Given the description of an element on the screen output the (x, y) to click on. 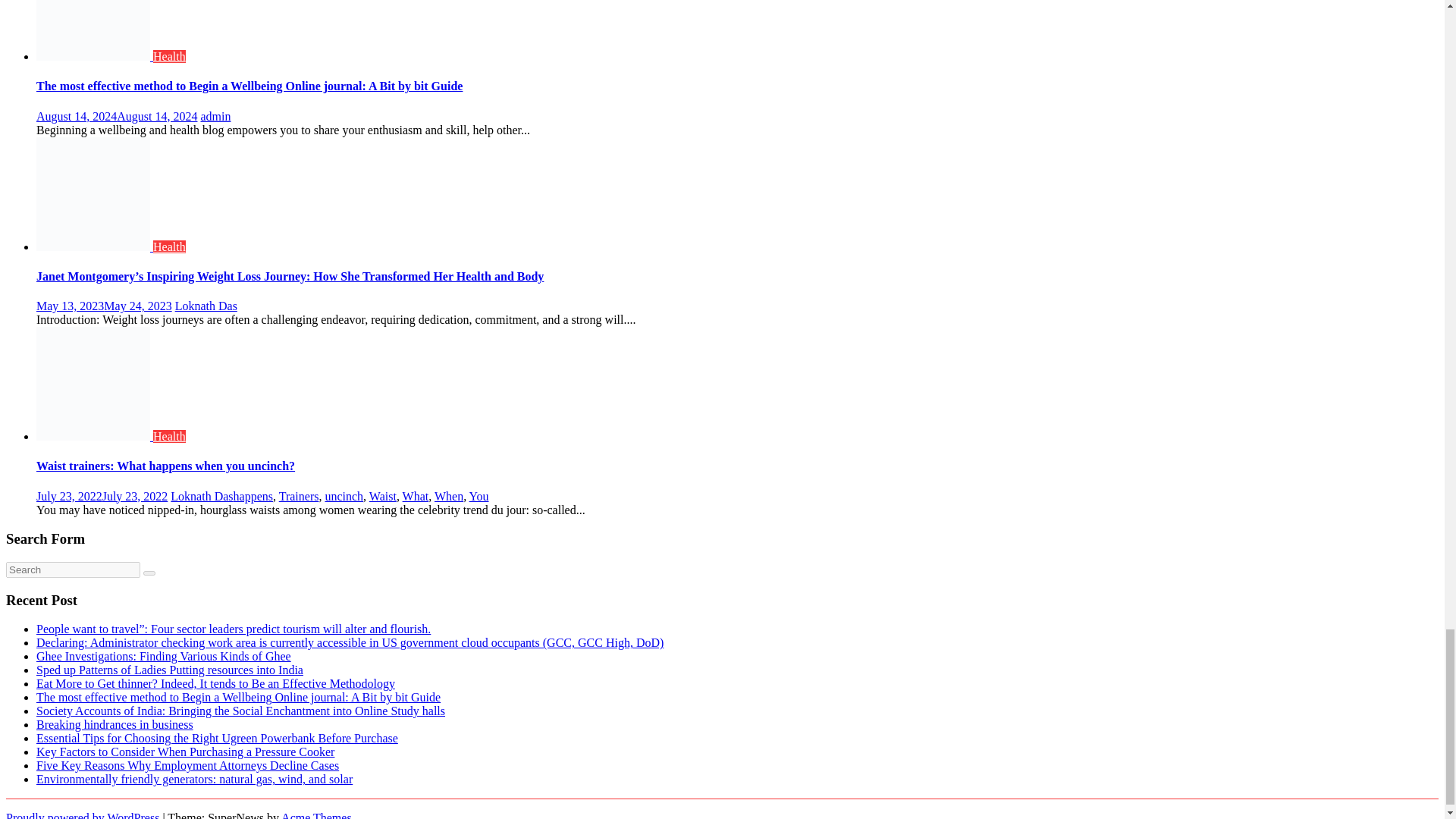
Health (169, 56)
August 14, 2024August 14, 2024 (116, 115)
admin (215, 115)
